Given the description of an element on the screen output the (x, y) to click on. 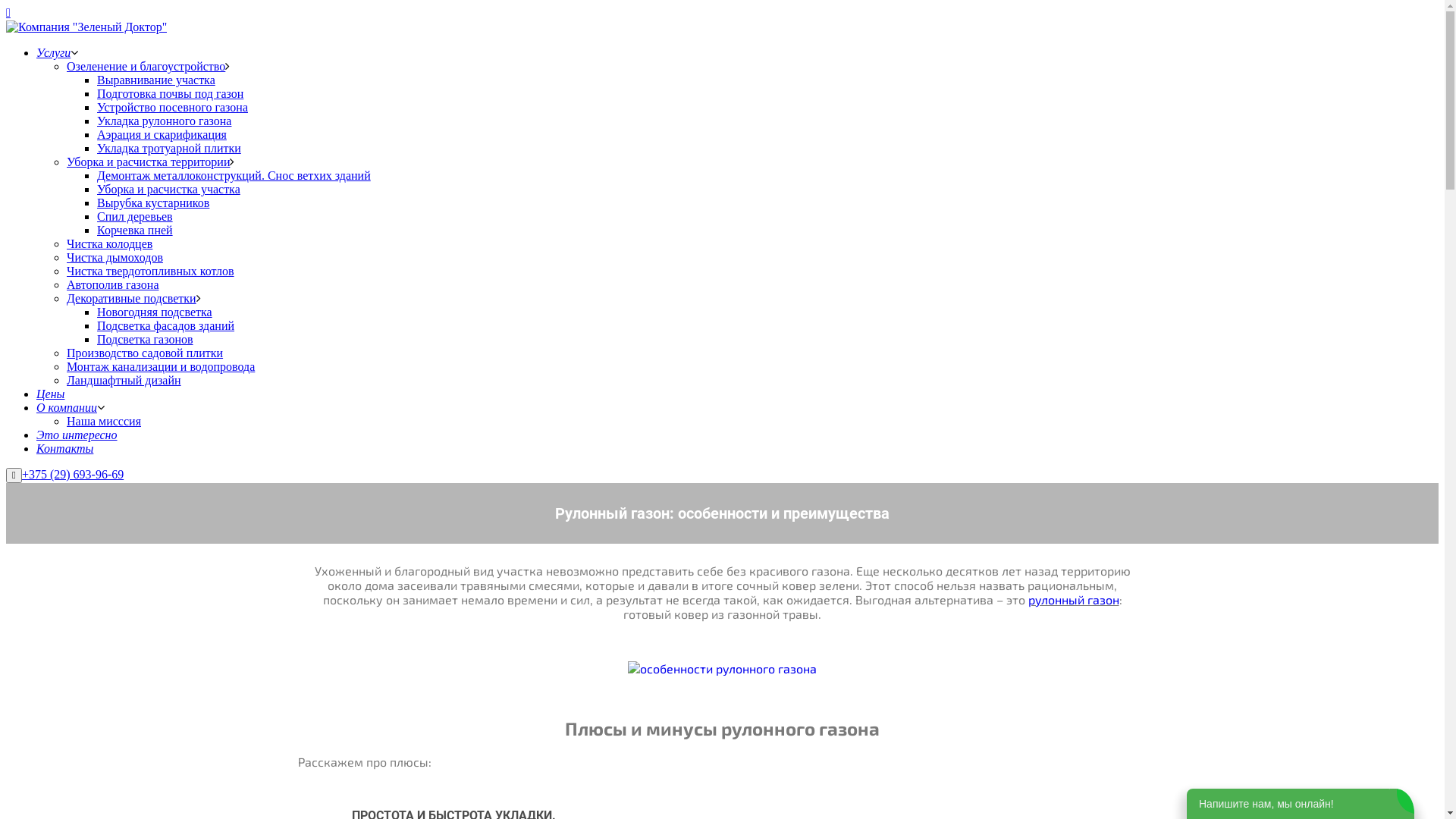
+375 (29) 693-96-69 Element type: text (72, 473)
